Given the description of an element on the screen output the (x, y) to click on. 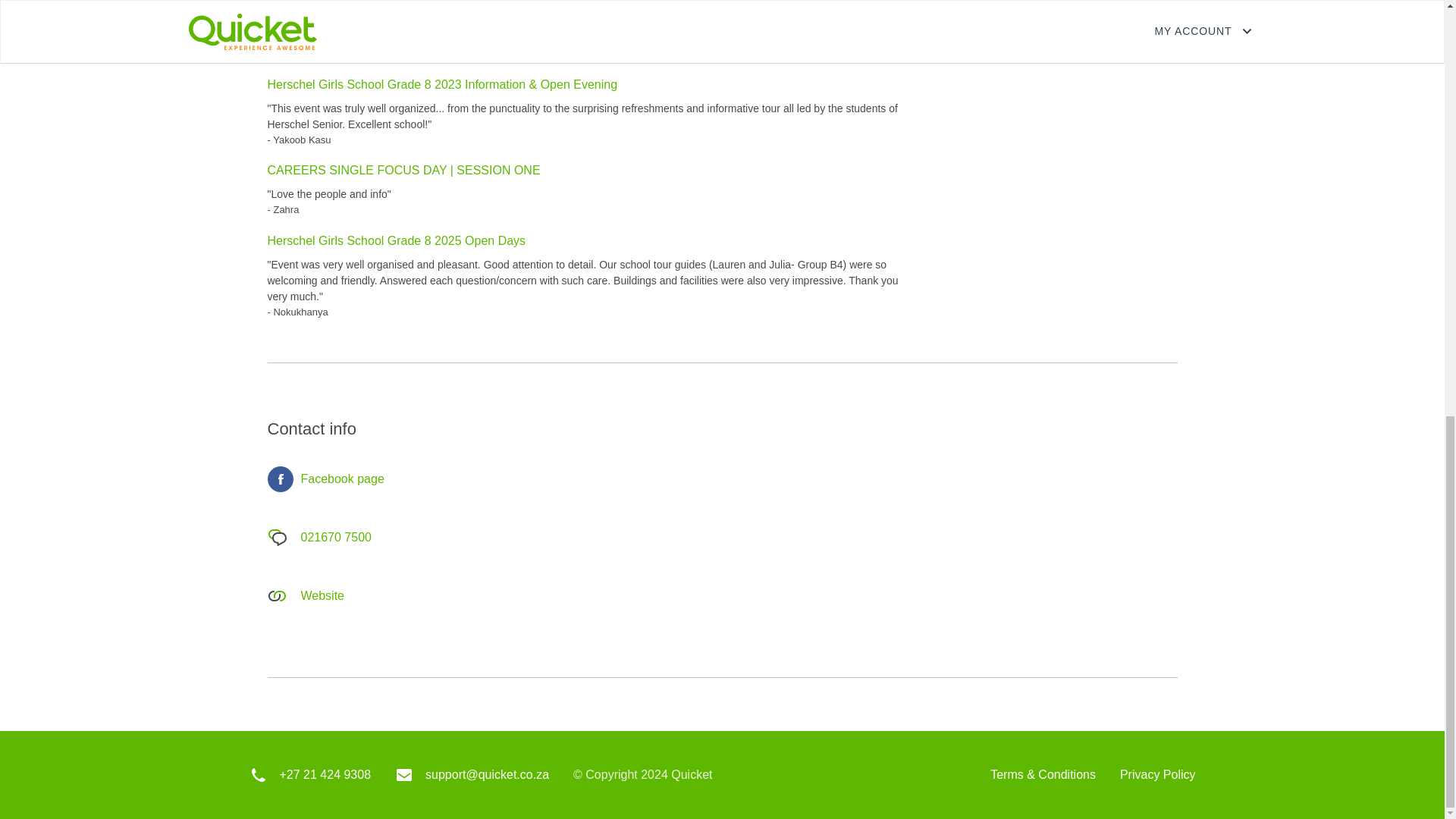
Herschel Girls School Grade 8 2025 Open Days (395, 240)
Facebook page (325, 479)
Privacy Policy (1157, 774)
Website (304, 595)
021670 7500 (318, 537)
